Given the description of an element on the screen output the (x, y) to click on. 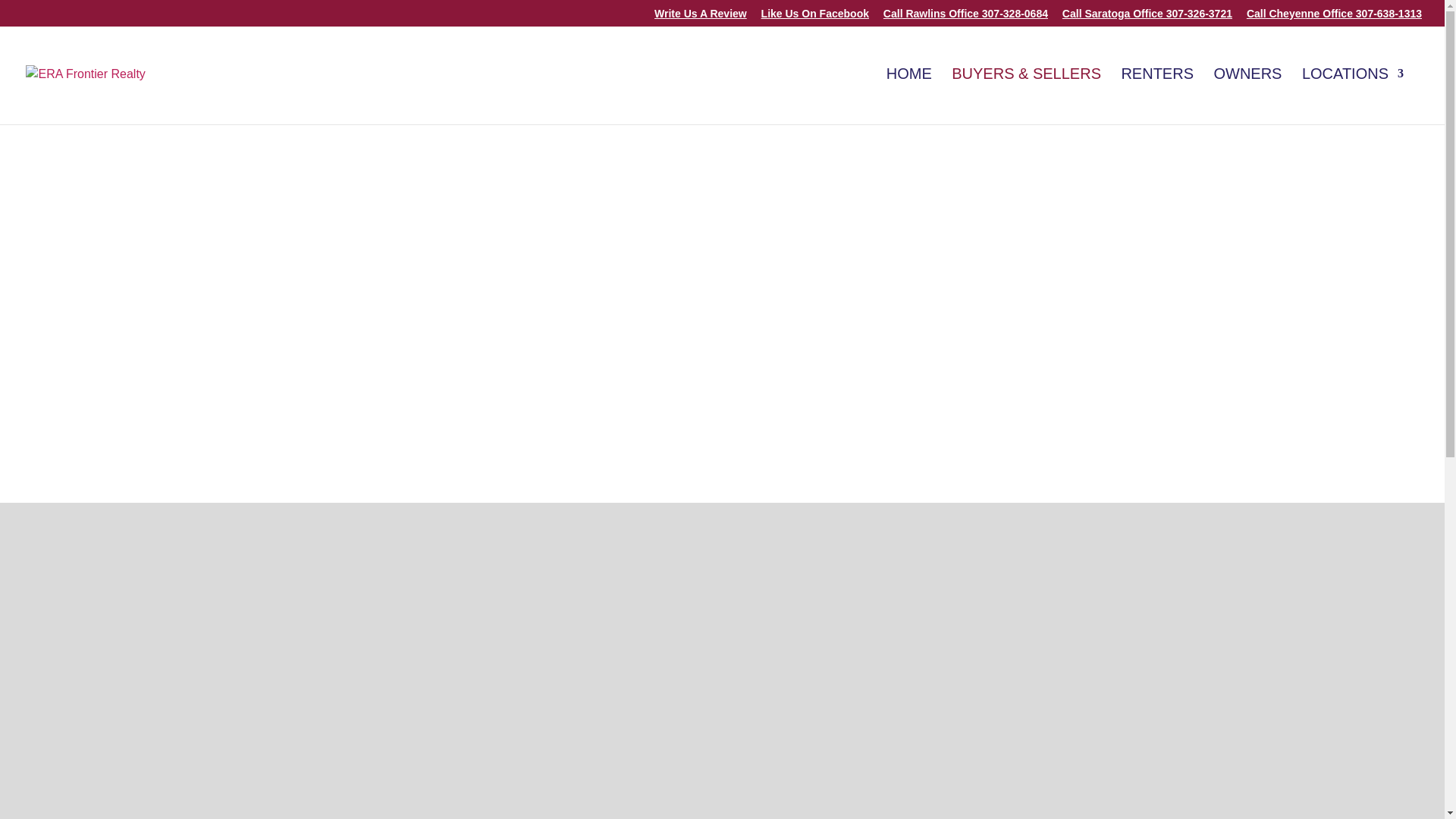
Call Cheyenne Office 307-638-1313 (1334, 16)
RENTERS (1157, 95)
Call Saratoga Office 307-326-3721 (1146, 16)
Call Rawlins Office 307-328-0684 (965, 16)
Write Us A Review (699, 16)
OWNERS (1246, 95)
LOCATIONS (1352, 95)
Like Us On Facebook (815, 16)
